Given the description of an element on the screen output the (x, y) to click on. 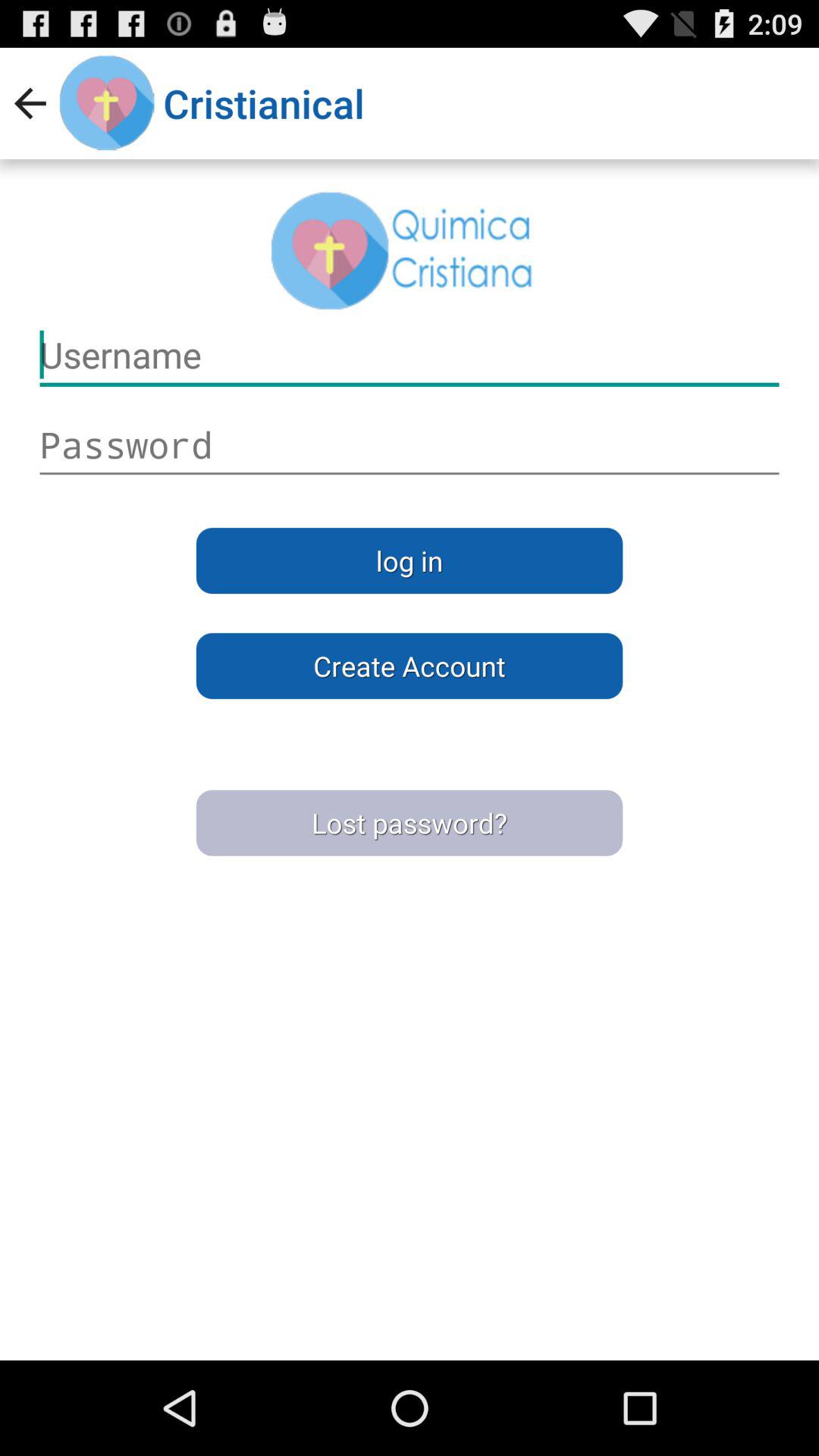
click lost password? (409, 822)
